Given the description of an element on the screen output the (x, y) to click on. 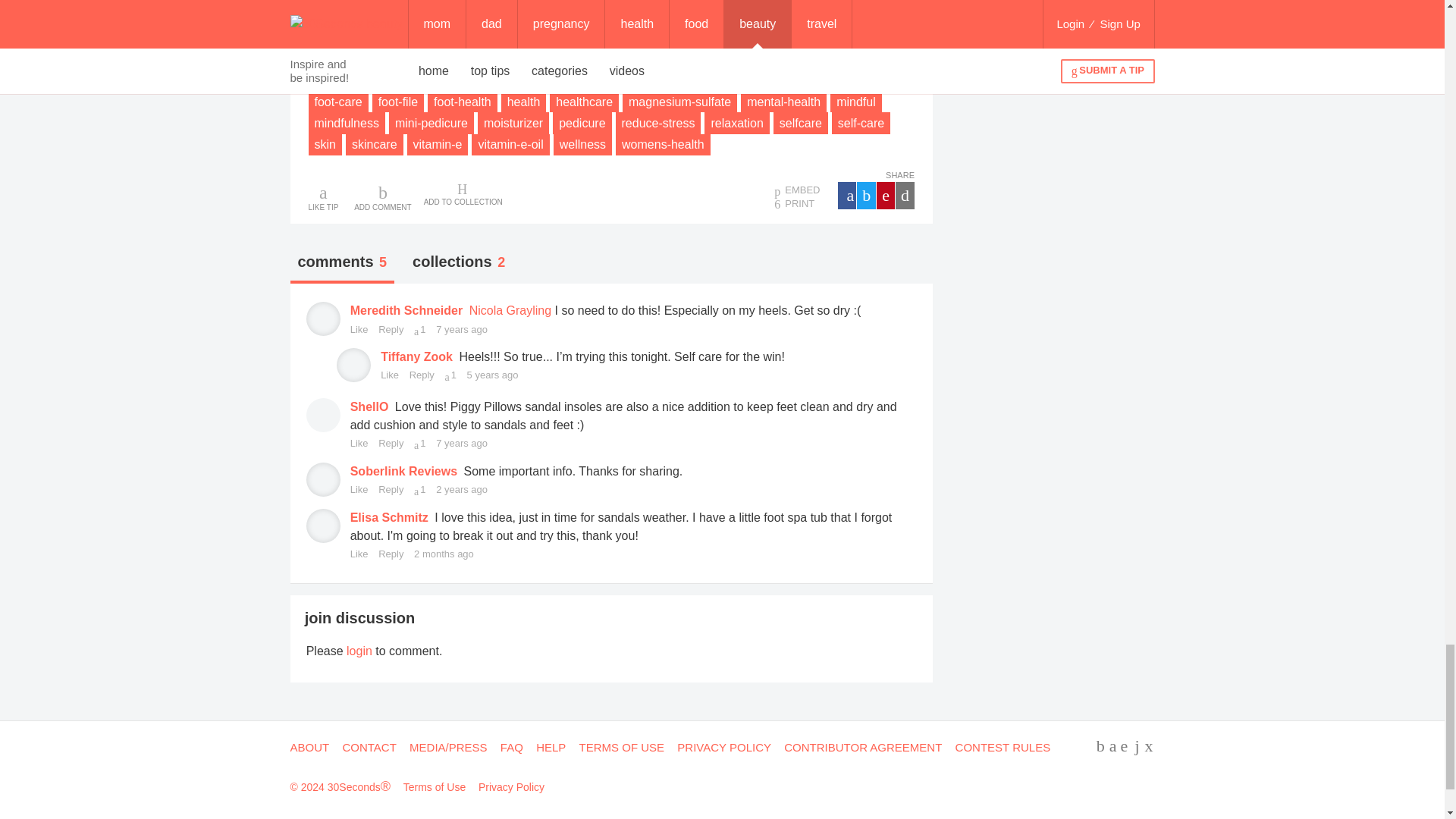
ADD COMMENT (382, 196)
